Given the description of an element on the screen output the (x, y) to click on. 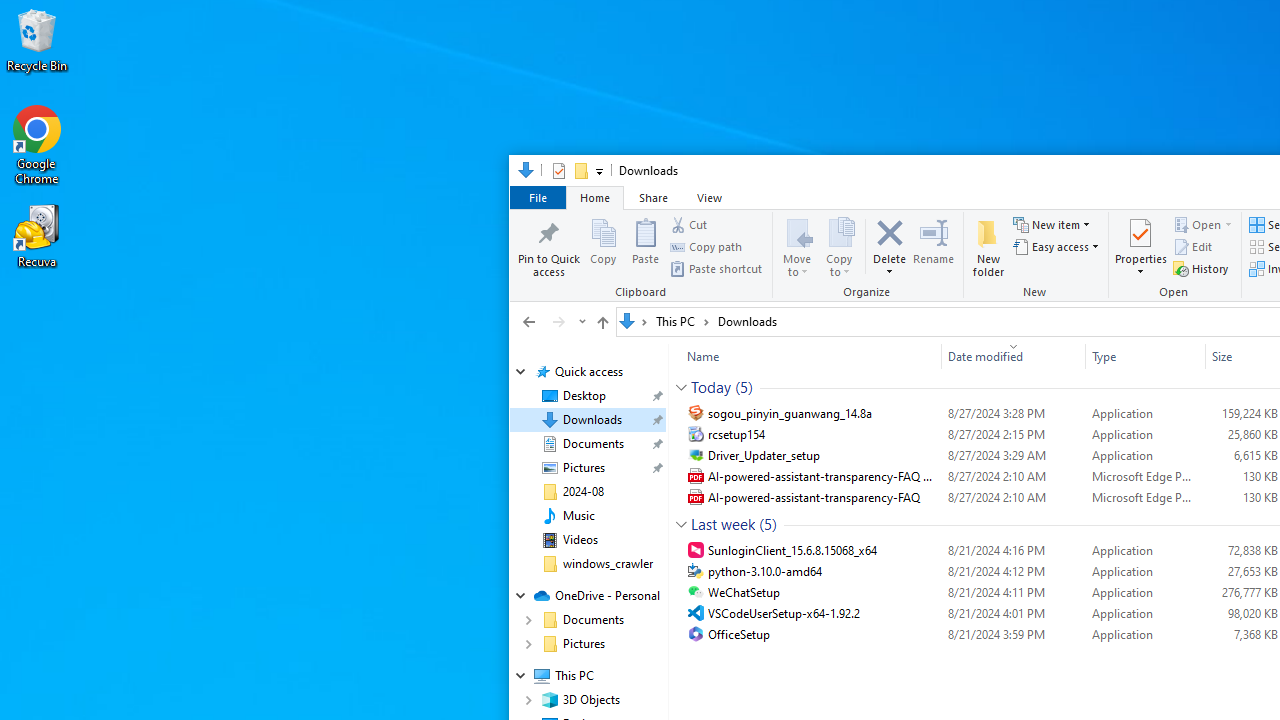
Documents (pinned) (592, 443)
Forward (Alt + Right Arrow) (558, 321)
Organize (868, 255)
View (709, 196)
Customize Quick Access Toolbar (598, 170)
New (1037, 255)
Copy path (706, 246)
Properties (558, 169)
Collapse Group (681, 524)
Move to (797, 246)
New folder (988, 246)
Type (1145, 356)
Filter dropdown (1197, 356)
Copy to (840, 246)
Downloads (pinned) (592, 420)
